Given the description of an element on the screen output the (x, y) to click on. 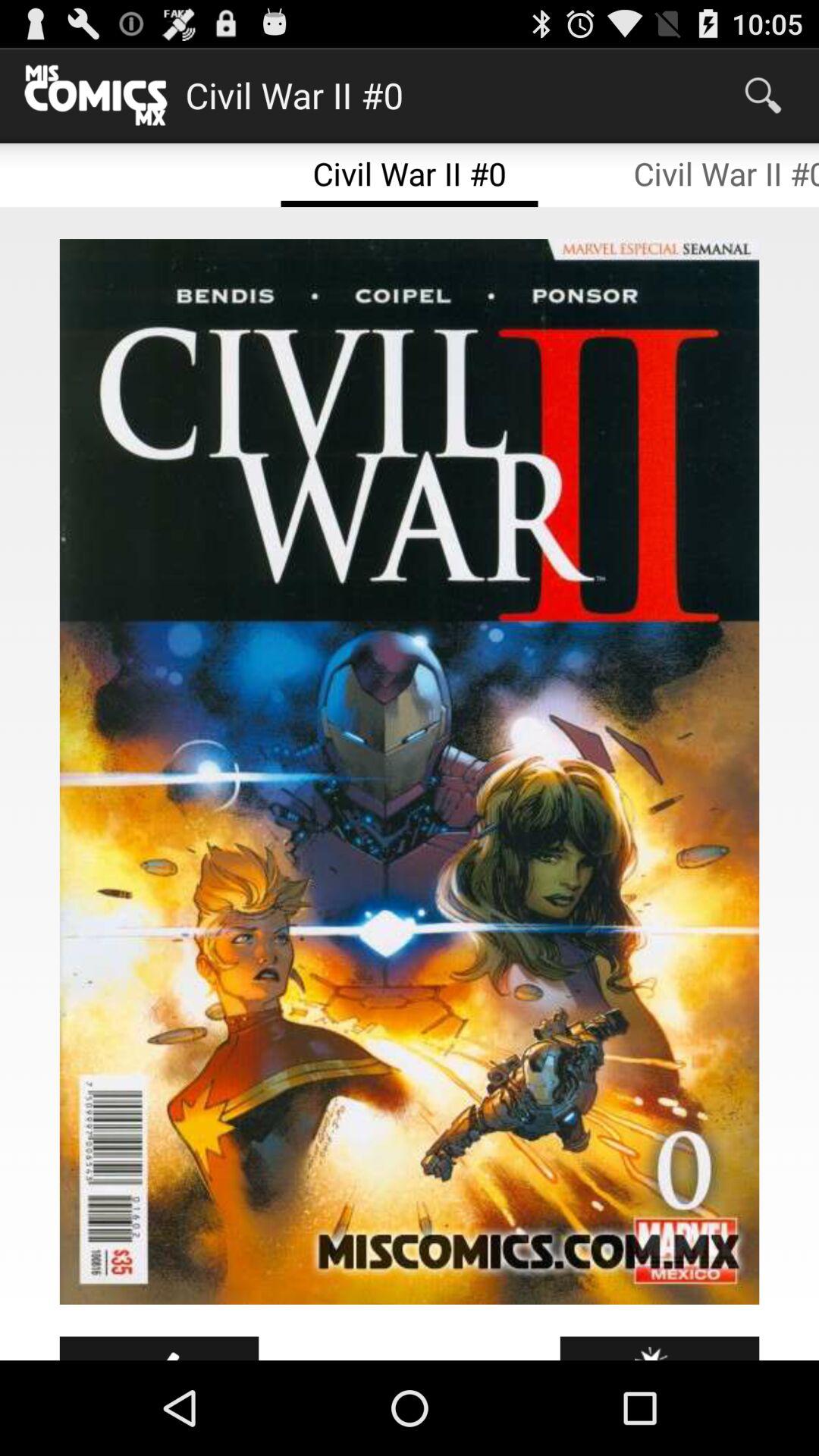
choose icon at the bottom left corner (158, 1348)
